Given the description of an element on the screen output the (x, y) to click on. 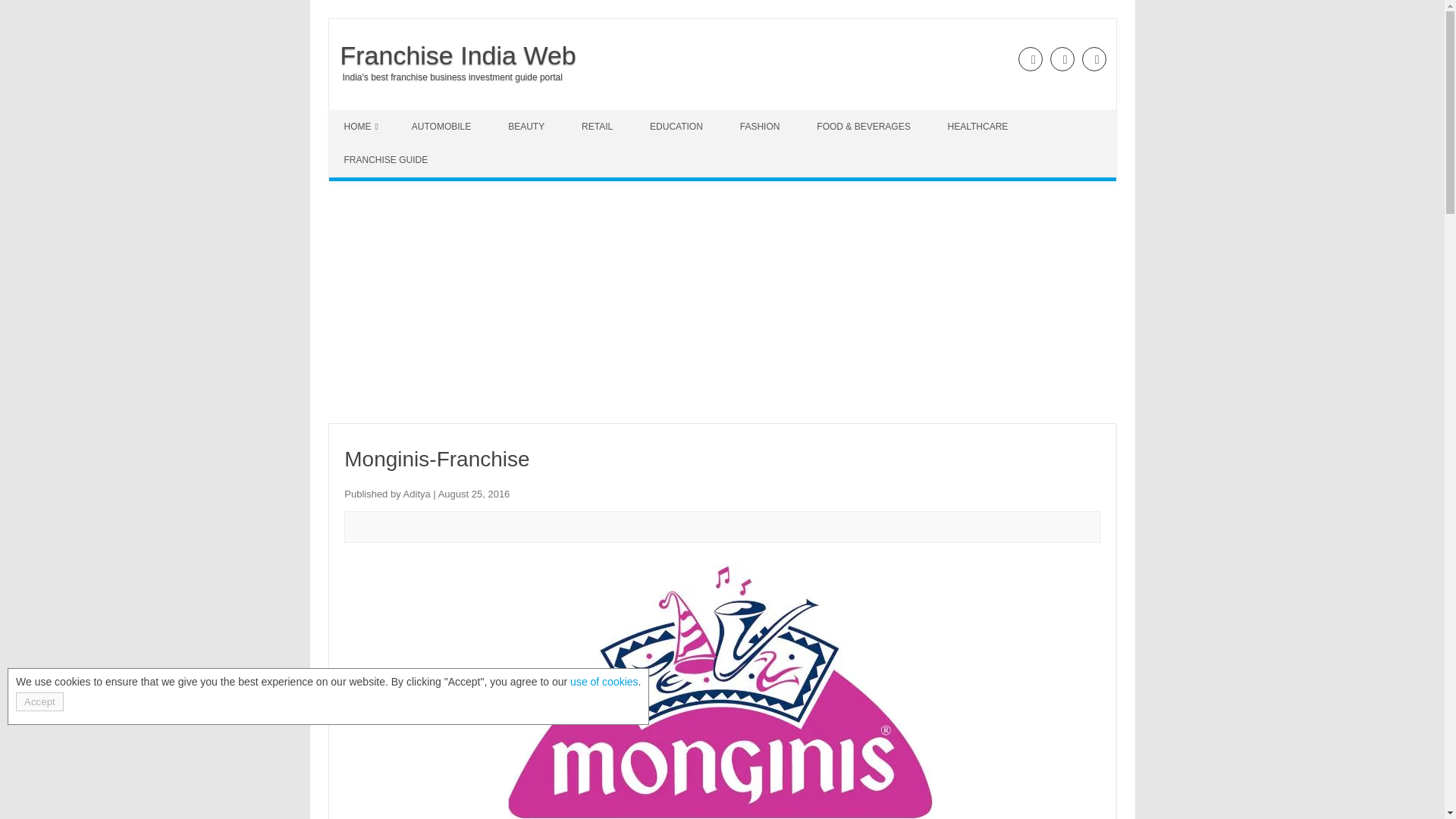
BEAUTY (528, 126)
Franchise India Web (452, 54)
Franchise India Web (452, 54)
AUTOMOBILE (442, 126)
India's best franchise business investment guide portal (445, 77)
HOME (361, 126)
Skip to content (363, 114)
Aditya (416, 493)
RETAIL (598, 126)
